Given the description of an element on the screen output the (x, y) to click on. 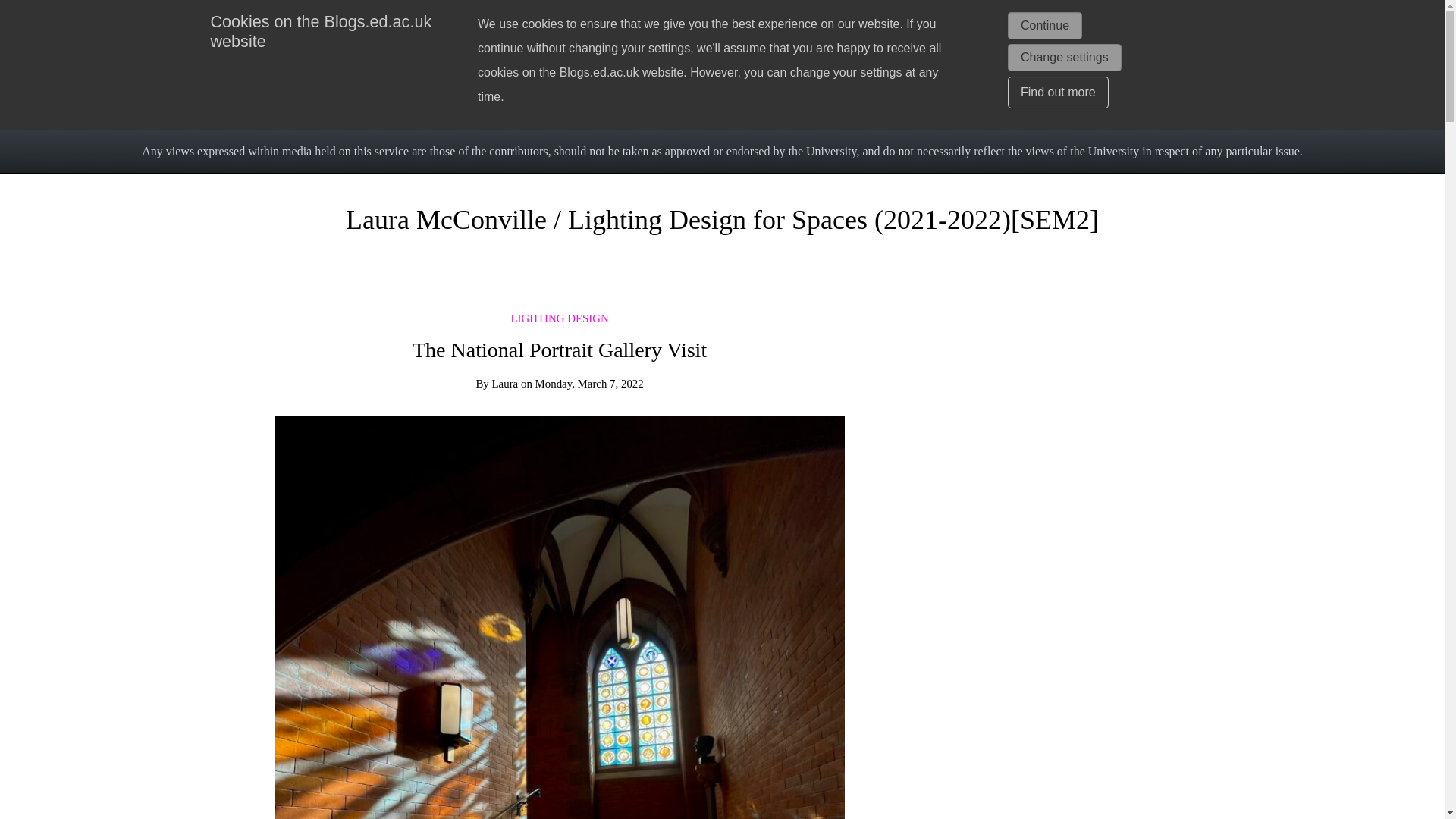
Permalink to: "The National Portrait Gallery Visit" (559, 793)
Monday, March 7, 2022 (589, 383)
Find out more (1057, 92)
Continue (1044, 25)
LIGHTING DESIGN (559, 318)
Laura (505, 383)
Change settings (1064, 57)
Posts by Laura (505, 383)
